Given the description of an element on the screen output the (x, y) to click on. 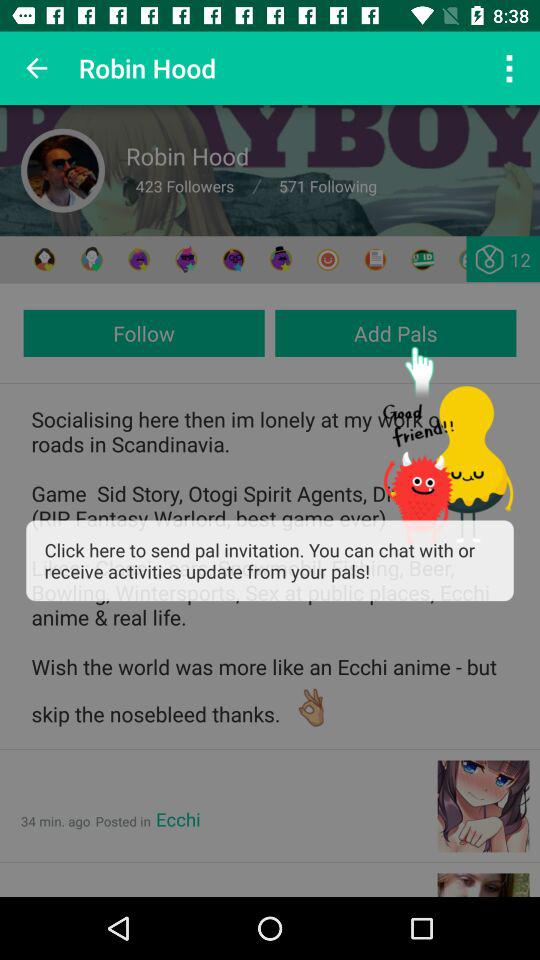
send friend request (469, 259)
